Given the description of an element on the screen output the (x, y) to click on. 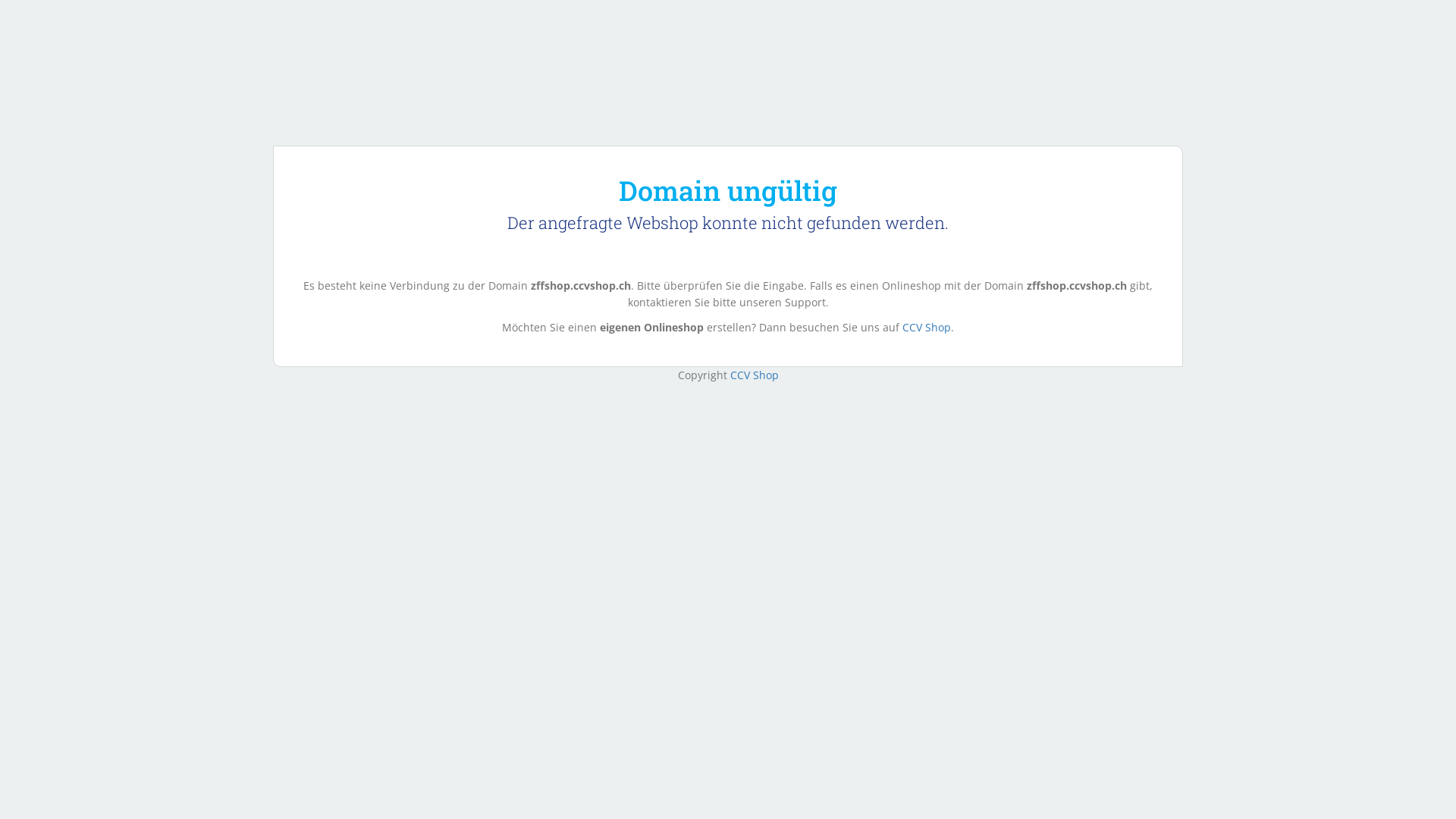
CCV Shop Element type: text (753, 374)
CCV Shop Element type: text (926, 327)
